Given the description of an element on the screen output the (x, y) to click on. 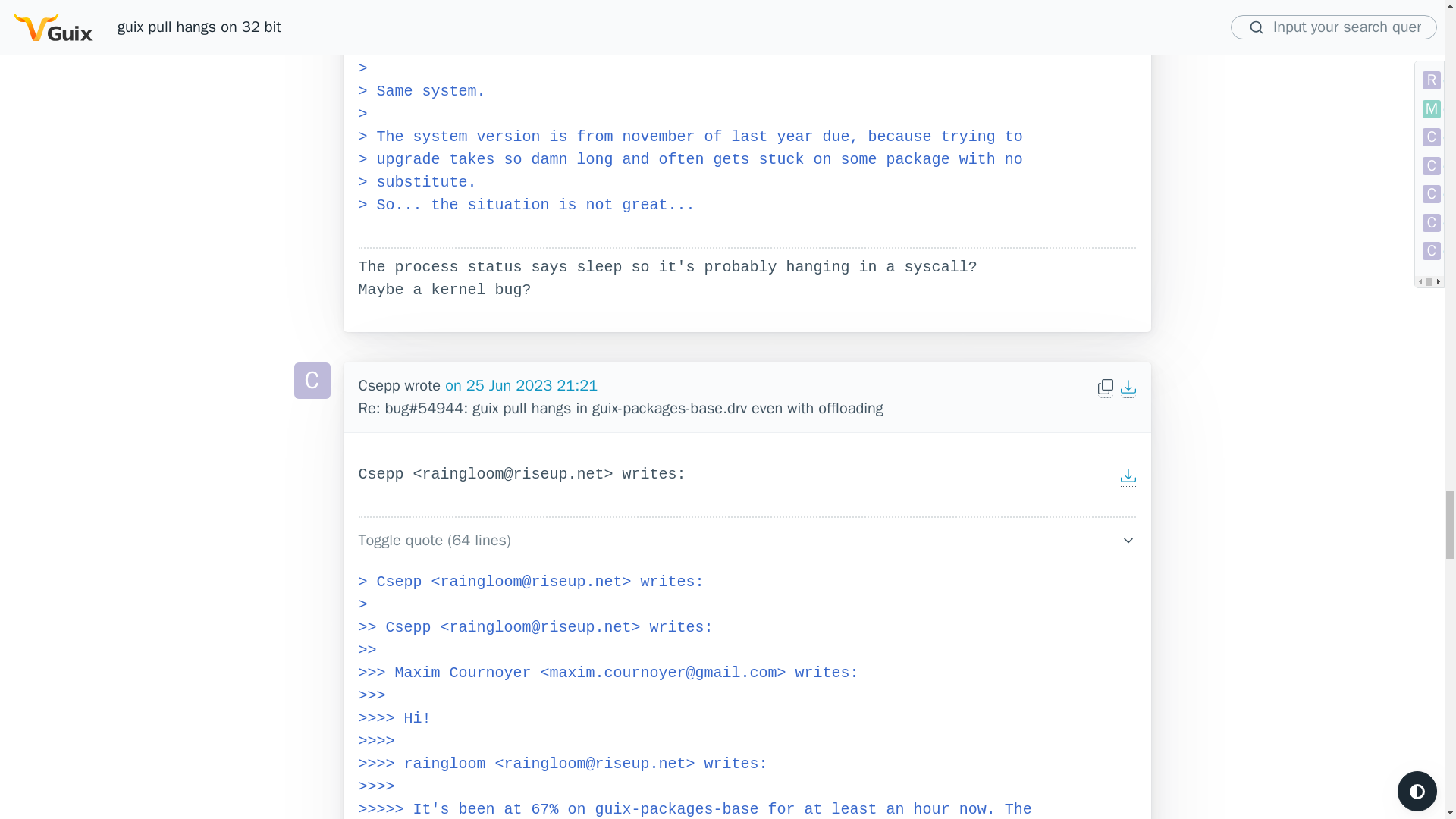
on 25 Jun 2023 21:21 (520, 384)
